Given the description of an element on the screen output the (x, y) to click on. 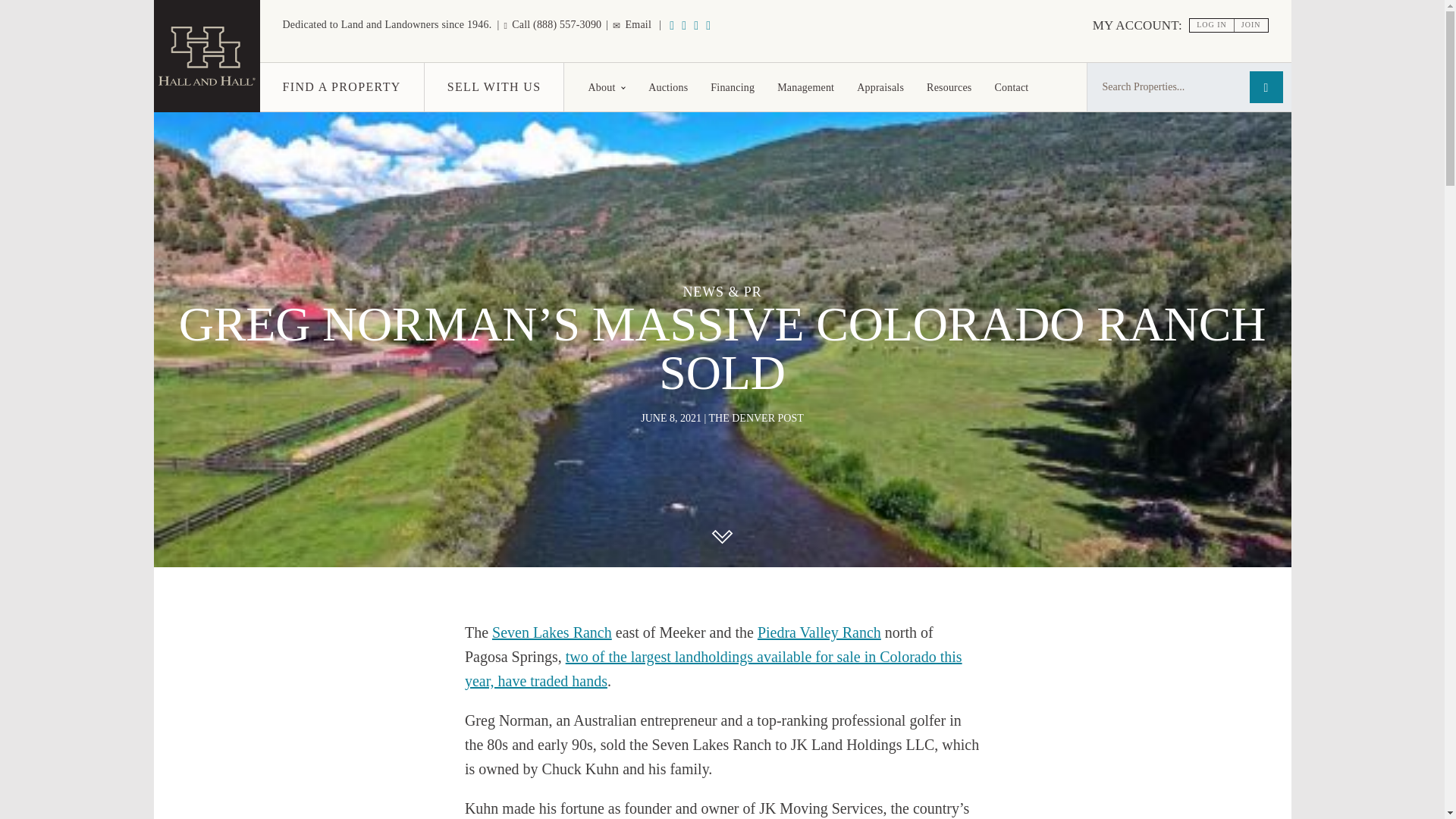
Contact (1010, 86)
Appraisals (880, 86)
SELL WITH US (494, 87)
Financing (731, 86)
Management (805, 86)
Resources (948, 86)
Auctions (667, 86)
Hall and Hall (205, 87)
Email (631, 24)
